Given the description of an element on the screen output the (x, y) to click on. 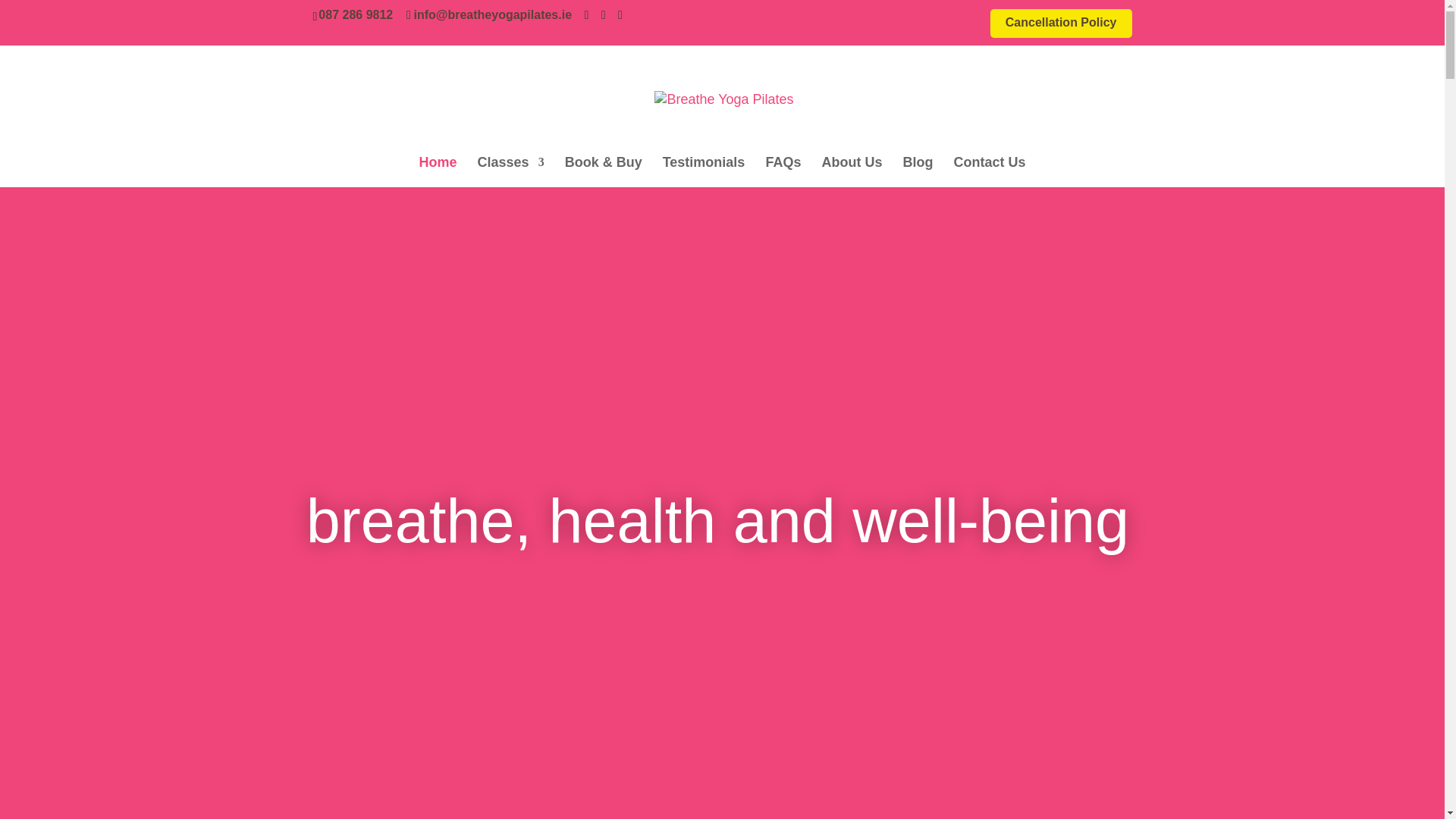
Testimonials (703, 172)
Contact Us (989, 172)
Blog (917, 172)
About Us (851, 172)
FAQs (782, 172)
Cancellation Policy (1061, 26)
Classes (510, 172)
Home (438, 172)
